Given the description of an element on the screen output the (x, y) to click on. 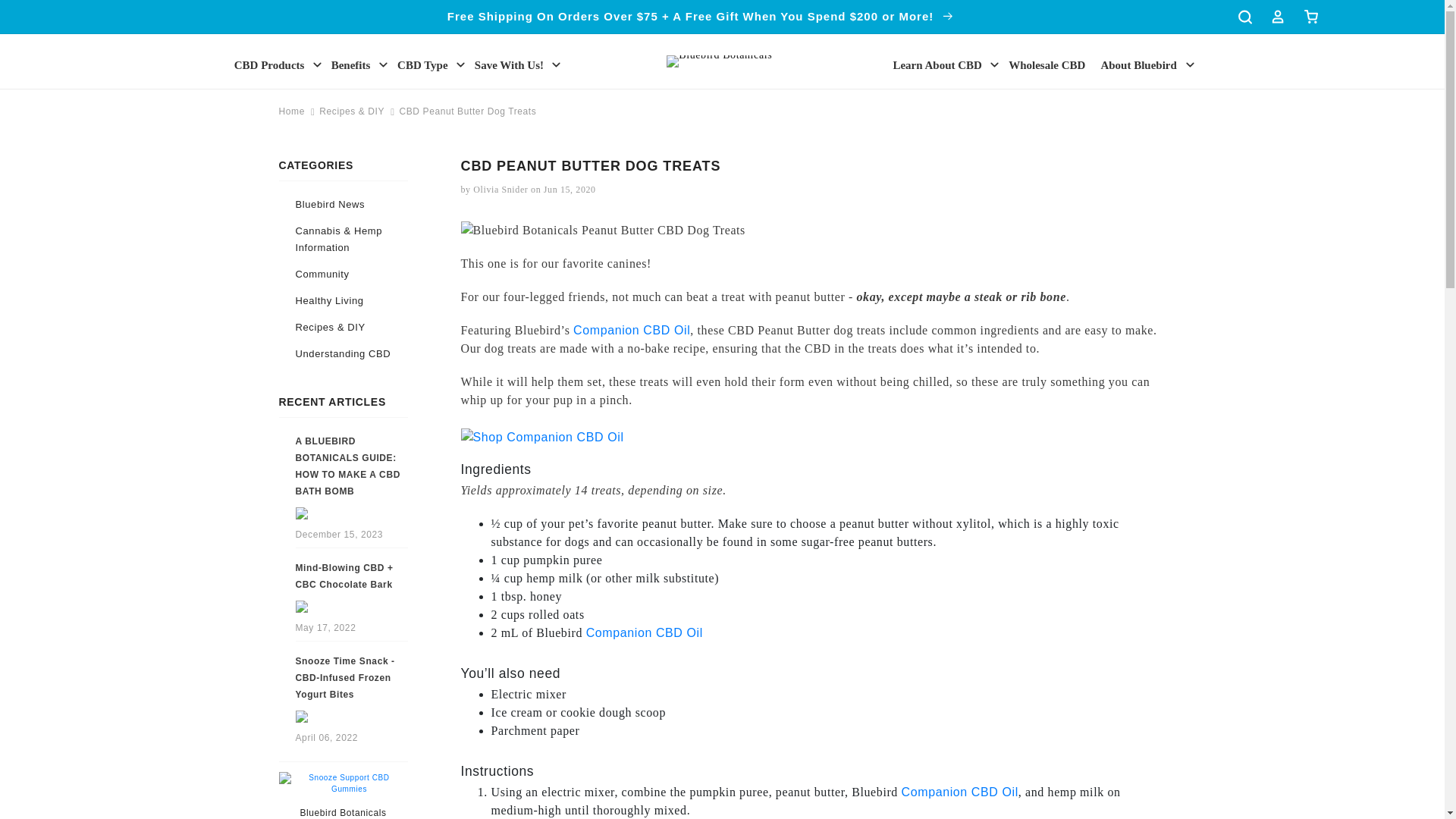
Chevron down Icon (556, 63)
Chevron down Icon (317, 63)
Skip to content (45, 16)
Chevron down Icon (1189, 63)
Bluebird Botanicals (342, 812)
Chevron down Icon (460, 63)
Chevron down Icon (994, 63)
Chevron down Icon (383, 63)
Log in (1277, 16)
Cart (1310, 16)
